Given the description of an element on the screen output the (x, y) to click on. 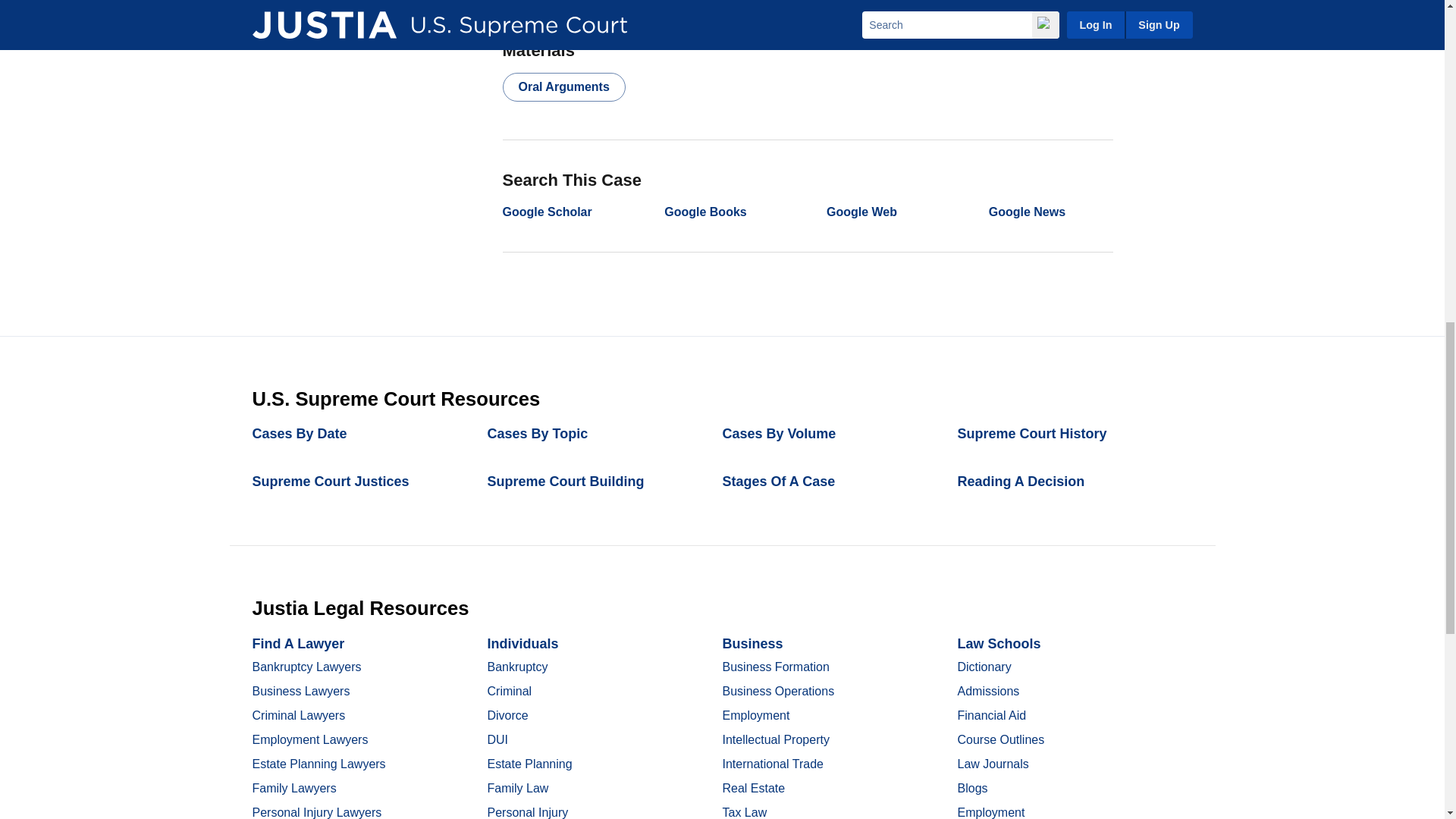
Law - Google News (1026, 211)
Law - Google Web (861, 211)
Law - Google Scholar (546, 211)
Law - Google Books (704, 211)
